Given the description of an element on the screen output the (x, y) to click on. 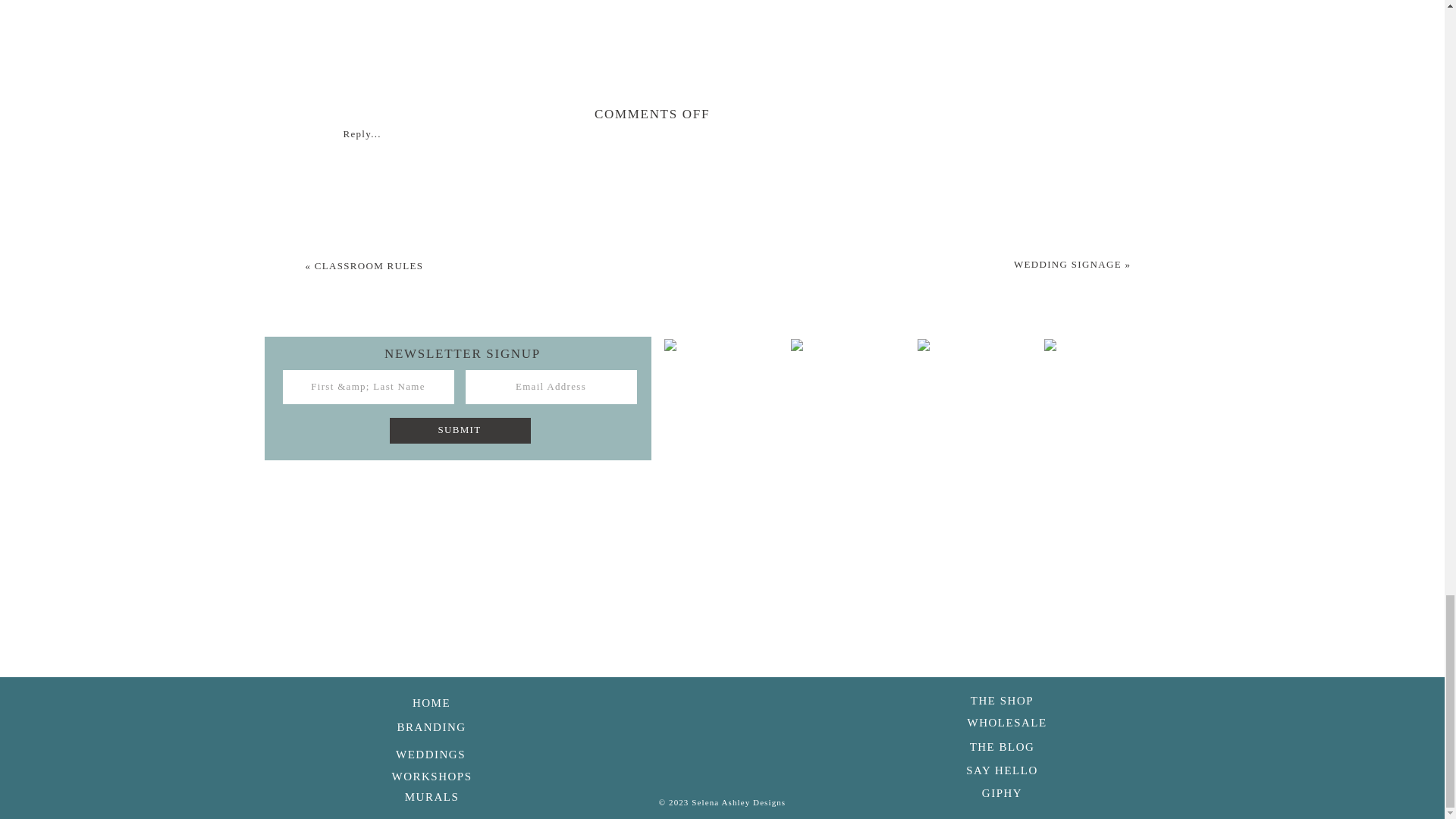
MURALS (431, 795)
THE BLOG (1002, 745)
BRANDING (431, 725)
HOME (431, 701)
WEDDINGS (430, 752)
WEDDING SIGNAGE (1067, 264)
WORKSHOPS (431, 774)
SUBMIT (459, 427)
THE SHOP (1002, 699)
WHOLESALE (1002, 720)
GIPHY (1001, 791)
CLASSROOM RULES (368, 265)
SAY HELLO (1001, 768)
